Given the description of an element on the screen output the (x, y) to click on. 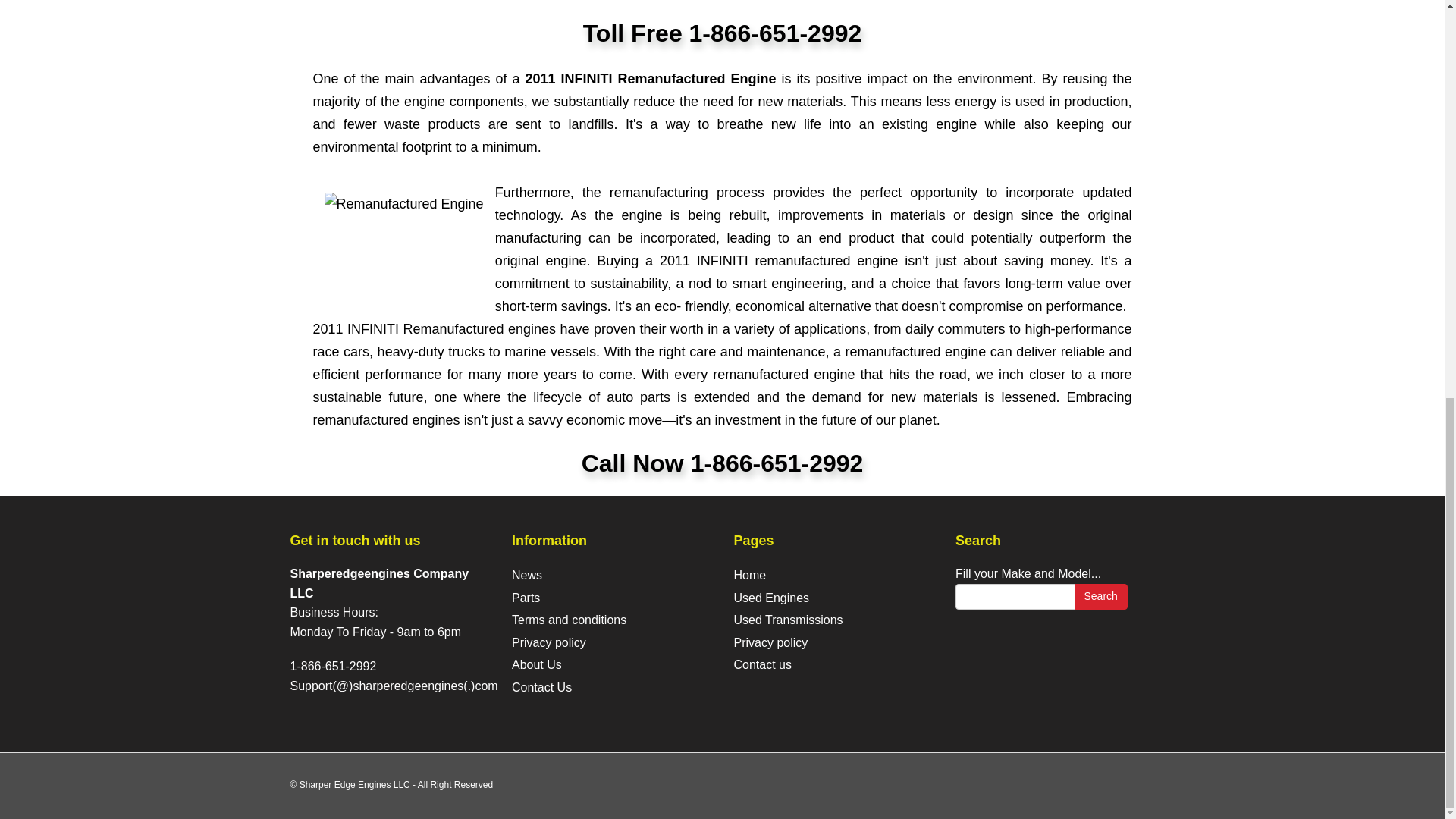
Used Engines (771, 597)
Contact us (762, 664)
News (526, 574)
Used Engines For Sale (771, 597)
contact (542, 686)
Car Used Parts (526, 597)
Privacy policy (549, 642)
Privacy policy (770, 642)
Terms and conditions (569, 619)
News (526, 574)
policy (549, 642)
Contact Us (762, 664)
Used Transmissions (788, 619)
Privacy (770, 642)
Search (1100, 596)
